Given the description of an element on the screen output the (x, y) to click on. 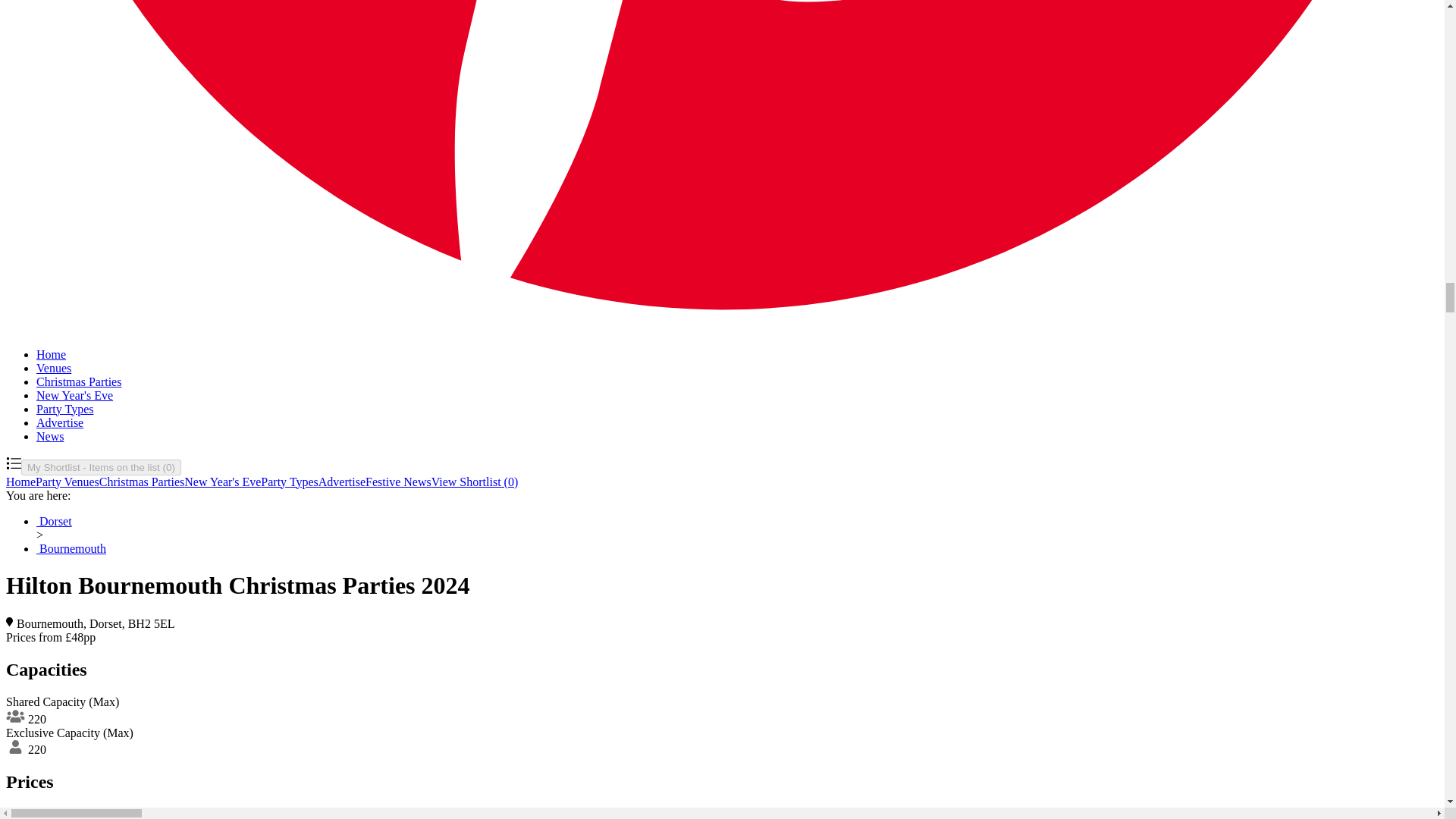
 Dorset (53, 521)
Christmas Parties (141, 481)
News (50, 436)
New Year's Eve (74, 395)
Venues (53, 367)
Festive News (397, 481)
Party Types (288, 481)
Party Types (64, 408)
Home (50, 354)
Home (19, 481)
Party Venues (66, 481)
New Year's Eve (222, 481)
 Bournemouth (71, 548)
Advertise (341, 481)
Advertise (59, 422)
